Given the description of an element on the screen output the (x, y) to click on. 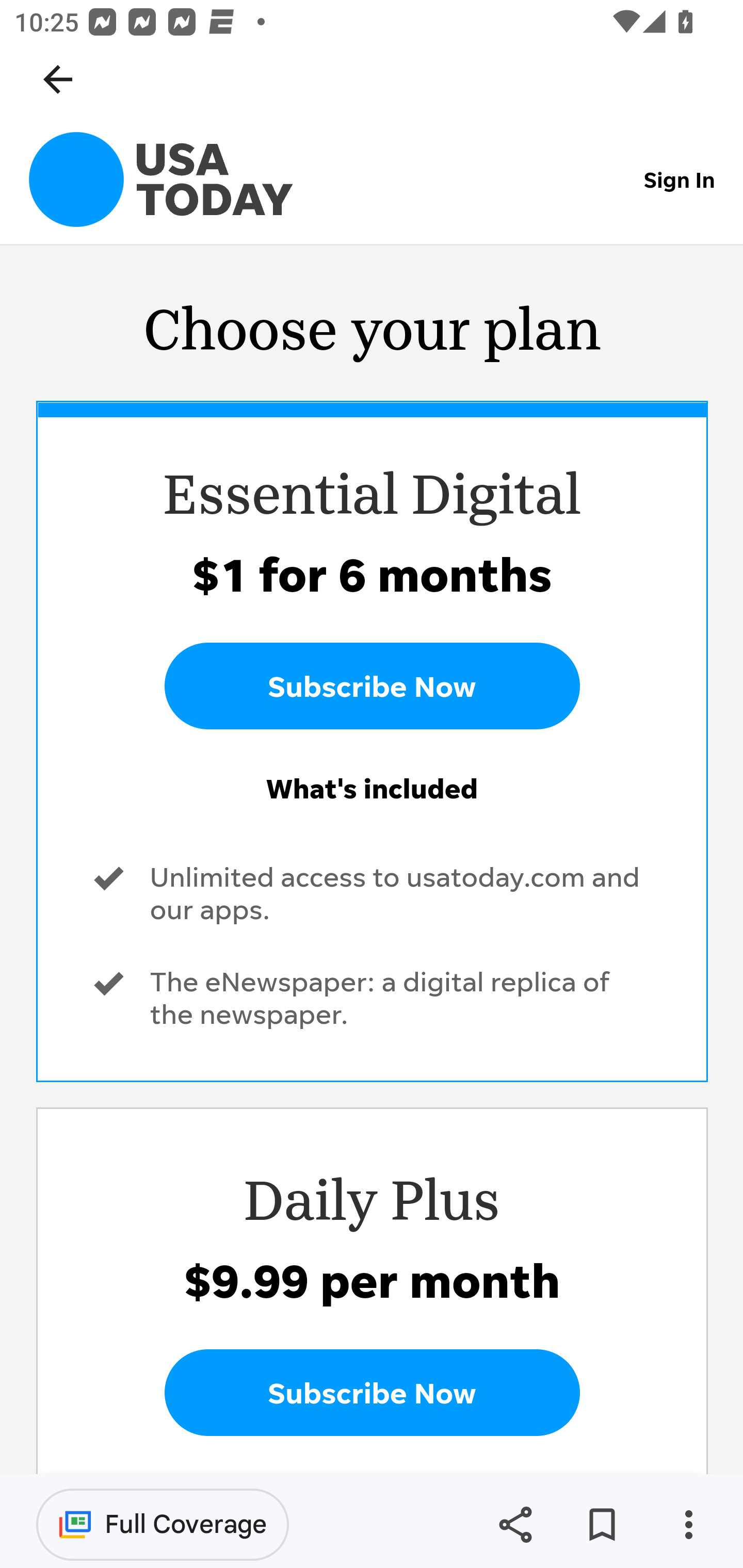
Navigate up (57, 79)
usatoday Logo (161, 179)
Sign In (679, 179)
&theme=slim Subscribe Now (371, 685)
&theme=slim Subscribe Now (371, 1392)
Share (514, 1524)
Save for later (601, 1524)
More options (688, 1524)
Full Coverage (162, 1524)
